Given the description of an element on the screen output the (x, y) to click on. 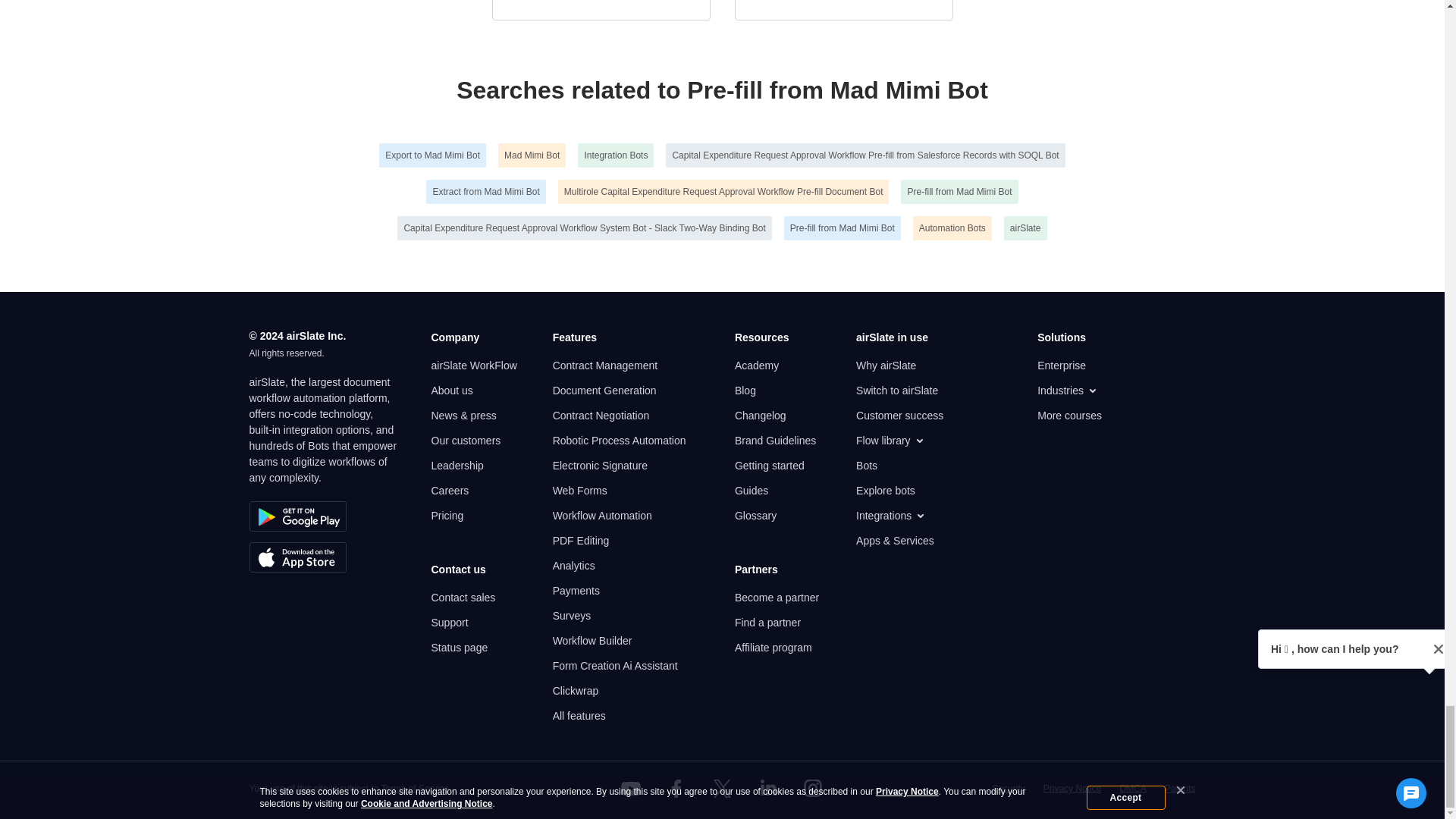
LinkedIn (767, 788)
Twitter (721, 788)
Instagram (812, 788)
YouTube (630, 788)
Facebook (676, 788)
